Given the description of an element on the screen output the (x, y) to click on. 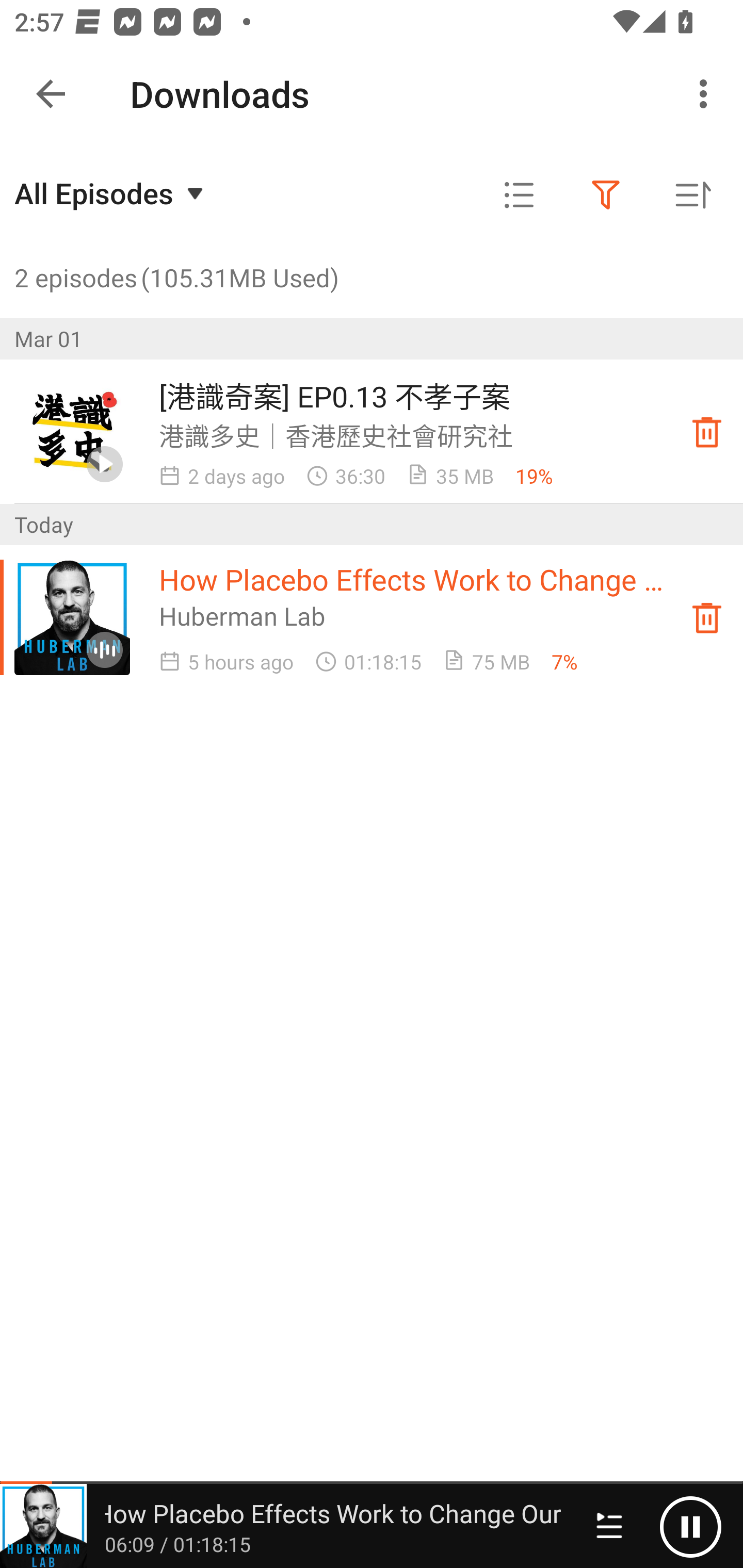
5.0 Downloading 1 episode VIEW (371, 88)
Navigate up (50, 93)
More options (706, 93)
All Episodes (111, 192)
 (518, 195)
 (605, 195)
 Sorted by oldest first (692, 195)
Downloaded (706, 431)
Downloaded (706, 617)
Pause (690, 1526)
